Given the description of an element on the screen output the (x, y) to click on. 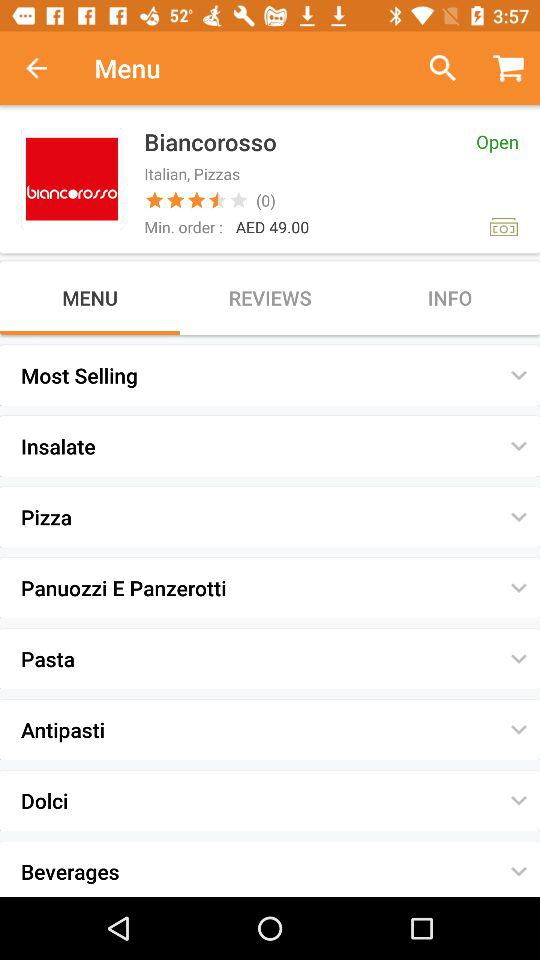
go to previous (434, 68)
